Given the description of an element on the screen output the (x, y) to click on. 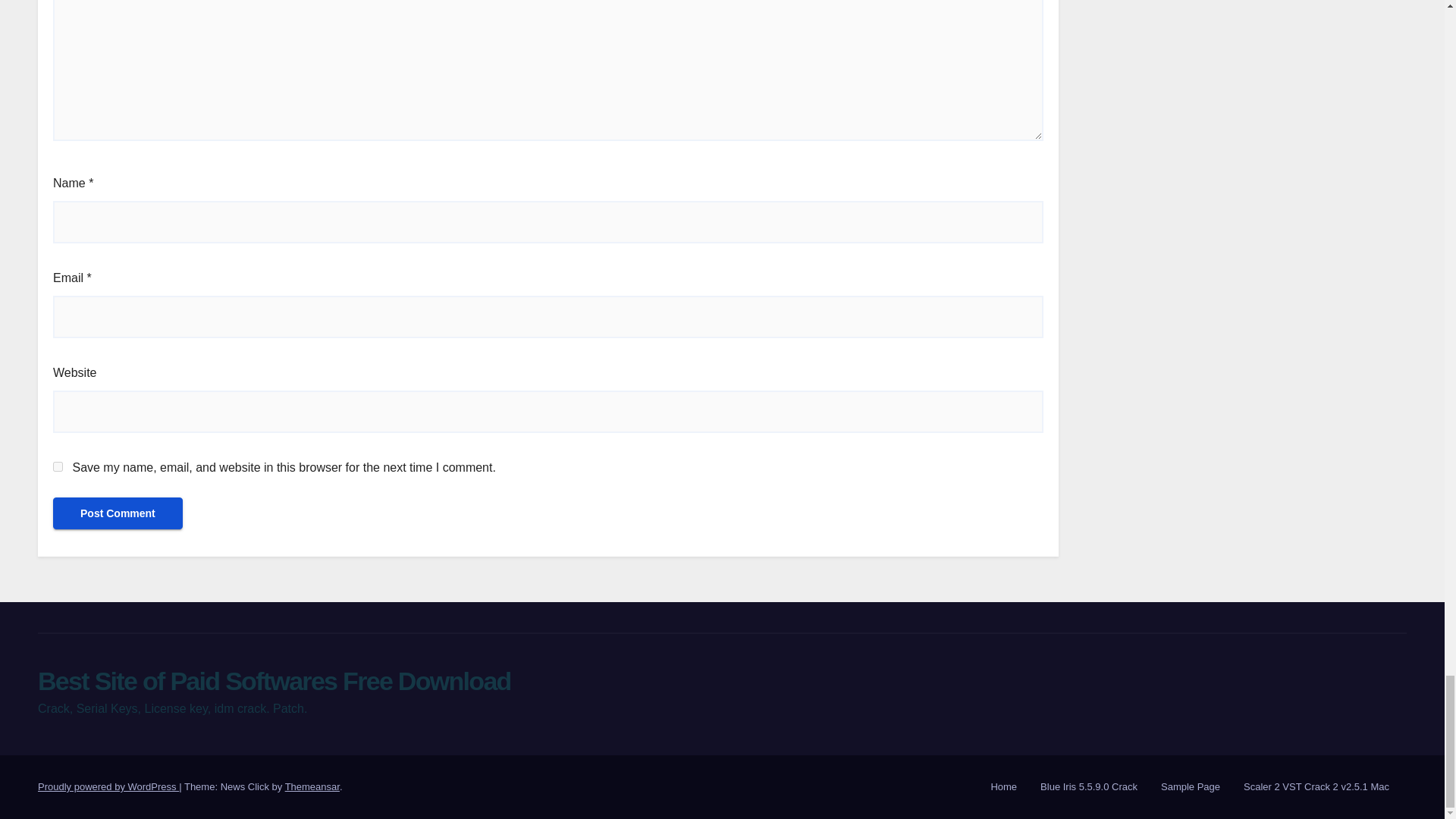
Home (1003, 786)
Post Comment (117, 513)
yes (57, 466)
